Given the description of an element on the screen output the (x, y) to click on. 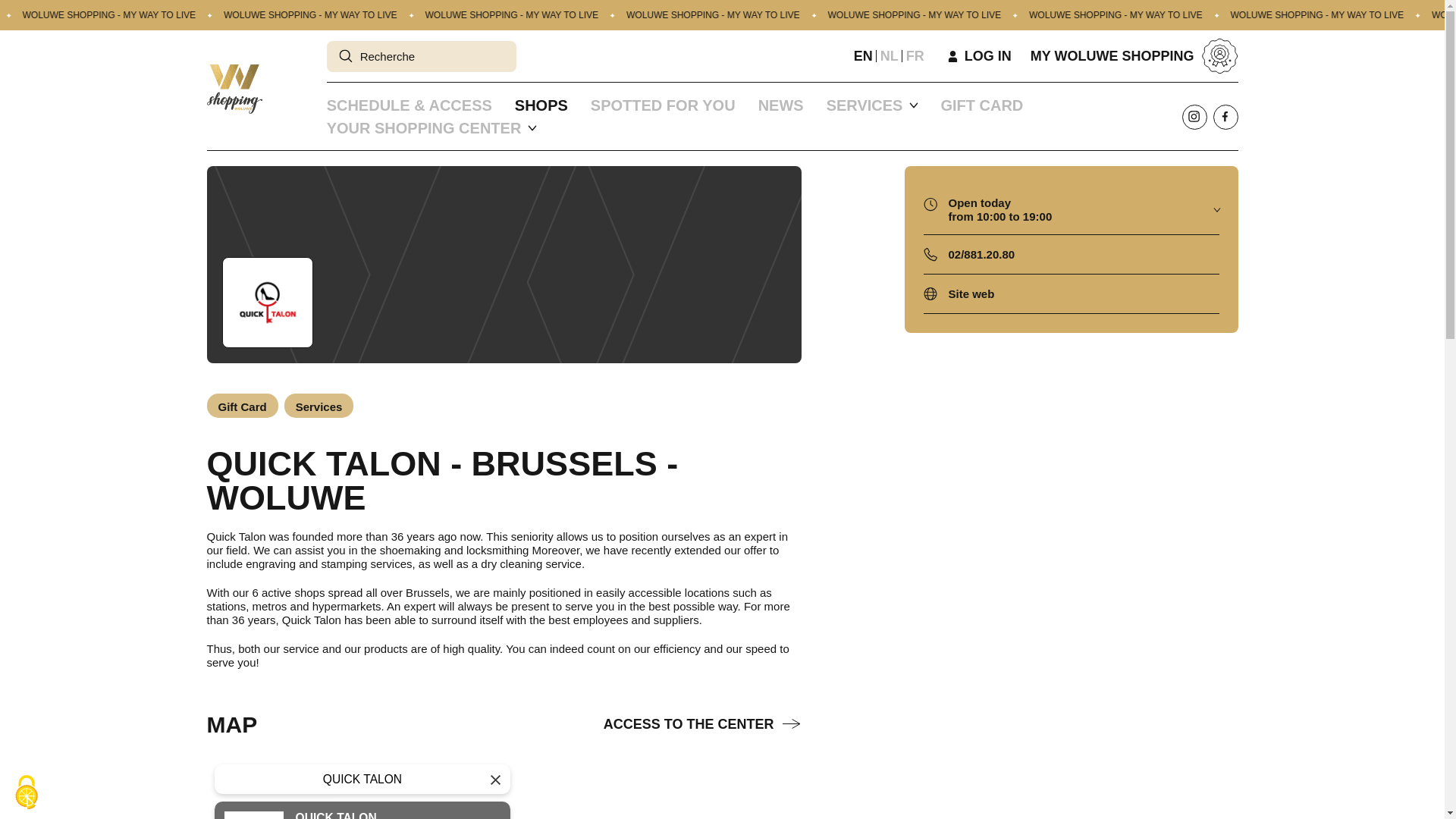
NL (889, 56)
Site web (971, 292)
ACCESS TO THE CENTER (703, 724)
LOG IN (979, 56)
NEWS (780, 105)
EN (863, 56)
GIFT CARD (981, 105)
SHOPS (541, 105)
MY WOLUWE SHOPPING (1134, 55)
SERVICES (864, 105)
SPOTTED FOR YOU (663, 105)
FR (915, 56)
YOUR SHOPPING CENTER (423, 127)
